Given the description of an element on the screen output the (x, y) to click on. 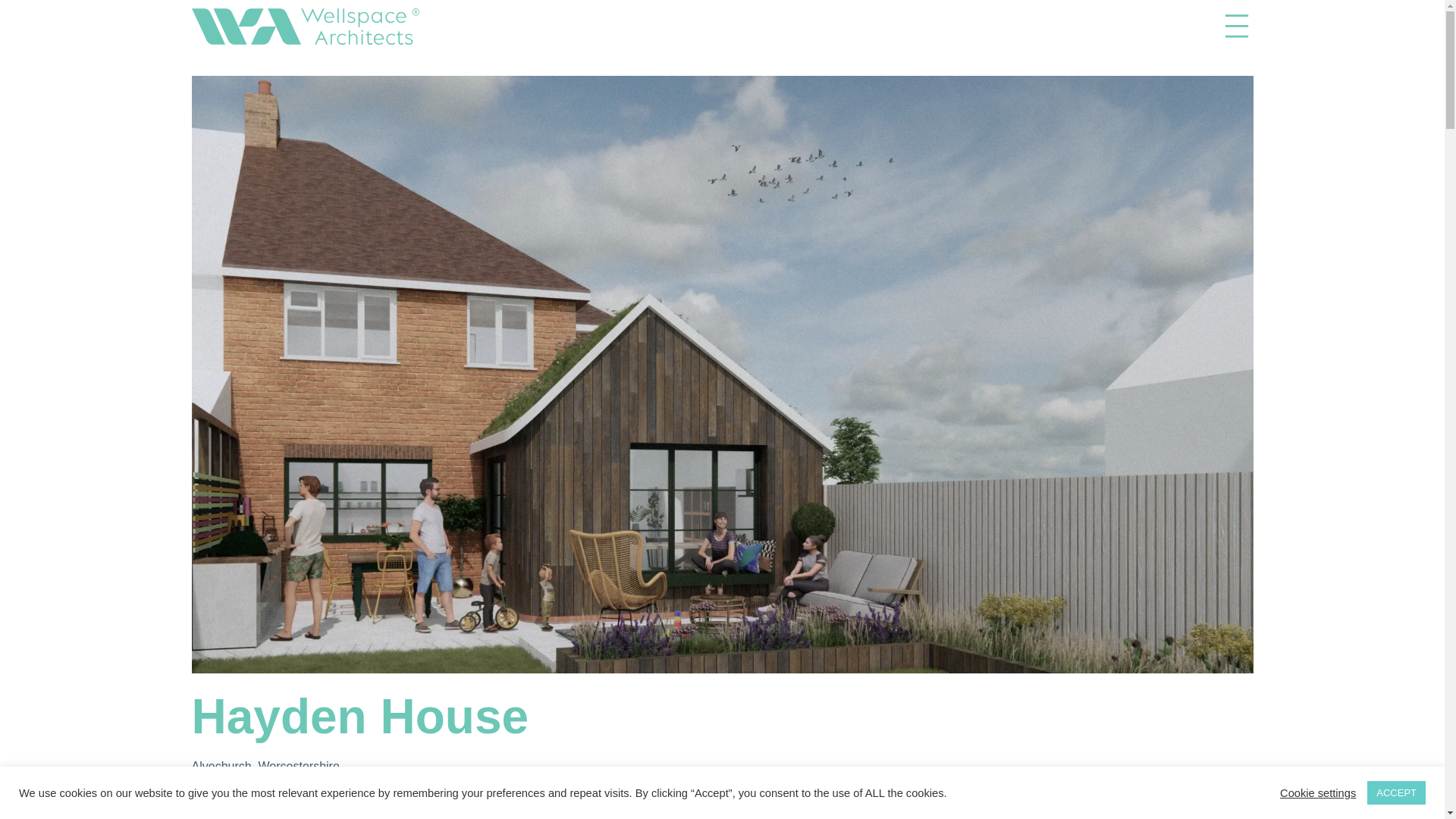
Skip to content (15, 7)
Cookie settings (1317, 792)
ACCEPT (1396, 792)
